Given the description of an element on the screen output the (x, y) to click on. 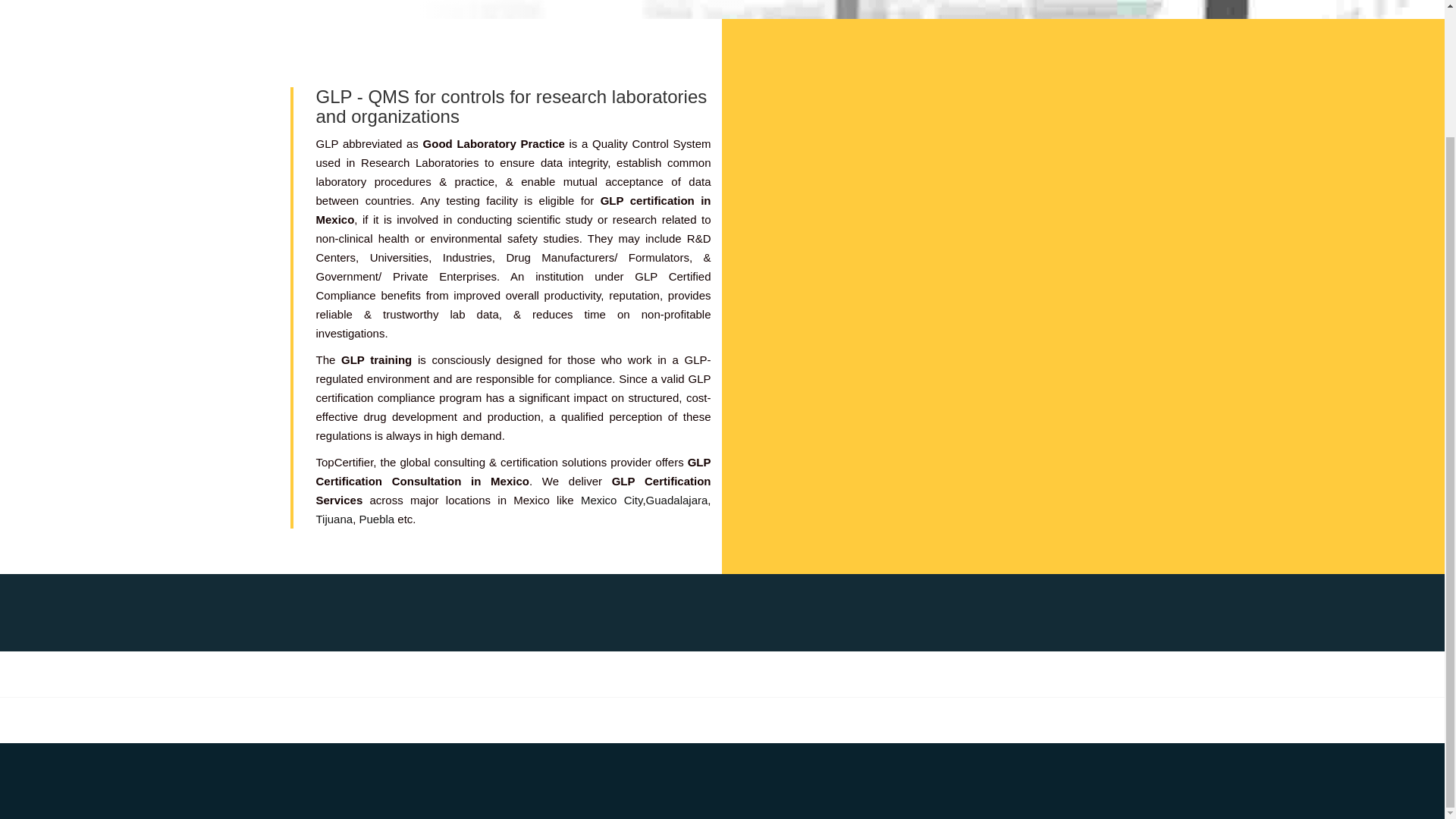
Mexico City (611, 499)
Puebla (374, 518)
Guadalajara (676, 499)
Tijuana (333, 518)
